Given the description of an element on the screen output the (x, y) to click on. 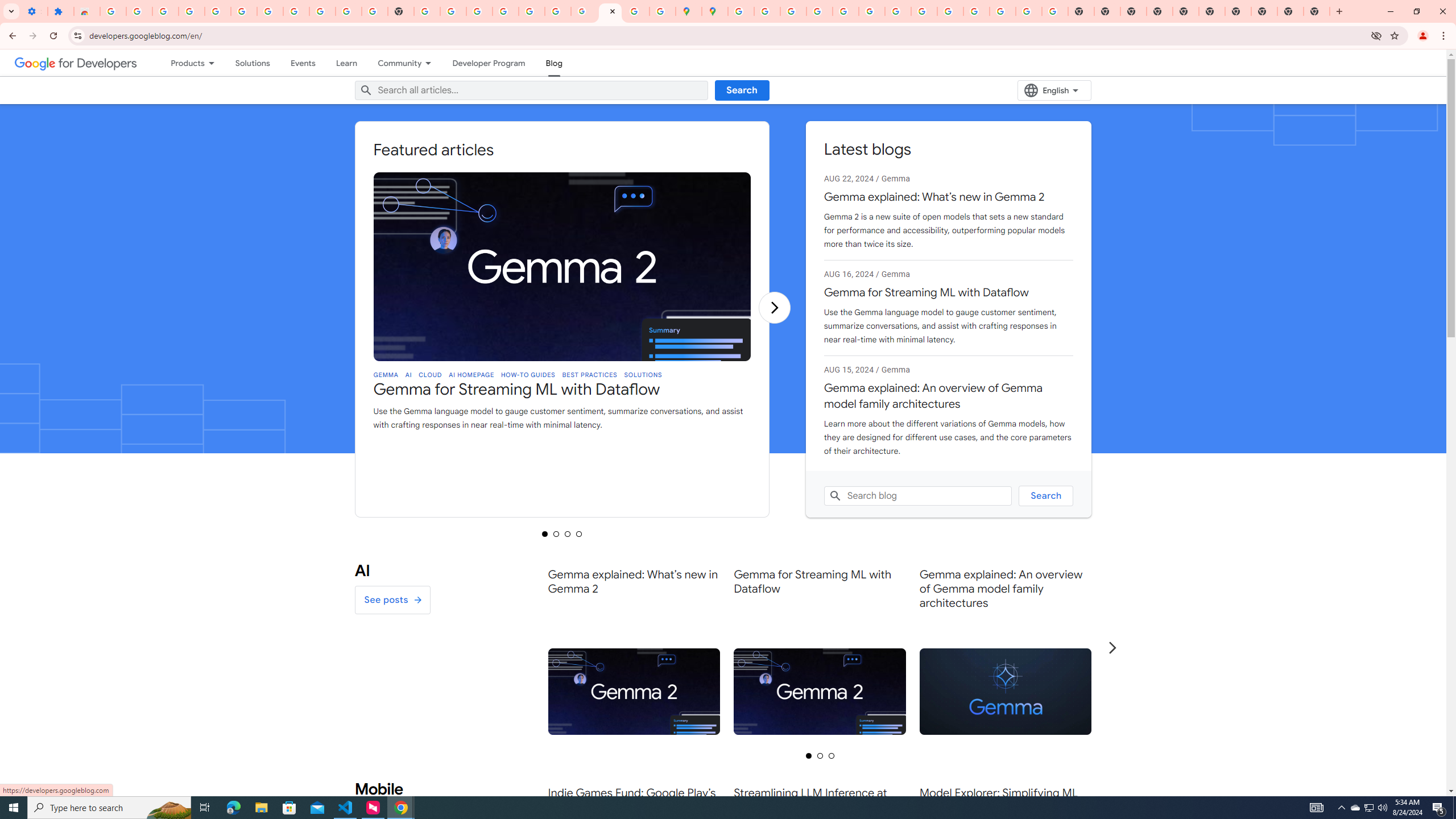
Learn (346, 62)
Google Images (1054, 11)
Home - Google Developers Blog (610, 11)
Selected tab 3 of 3 (831, 755)
Events (302, 62)
Settings - On startup (34, 11)
Selected tab 2 of 4 (556, 533)
Dropdown menu for Community (431, 62)
Google for Developers (75, 62)
